Given the description of an element on the screen output the (x, y) to click on. 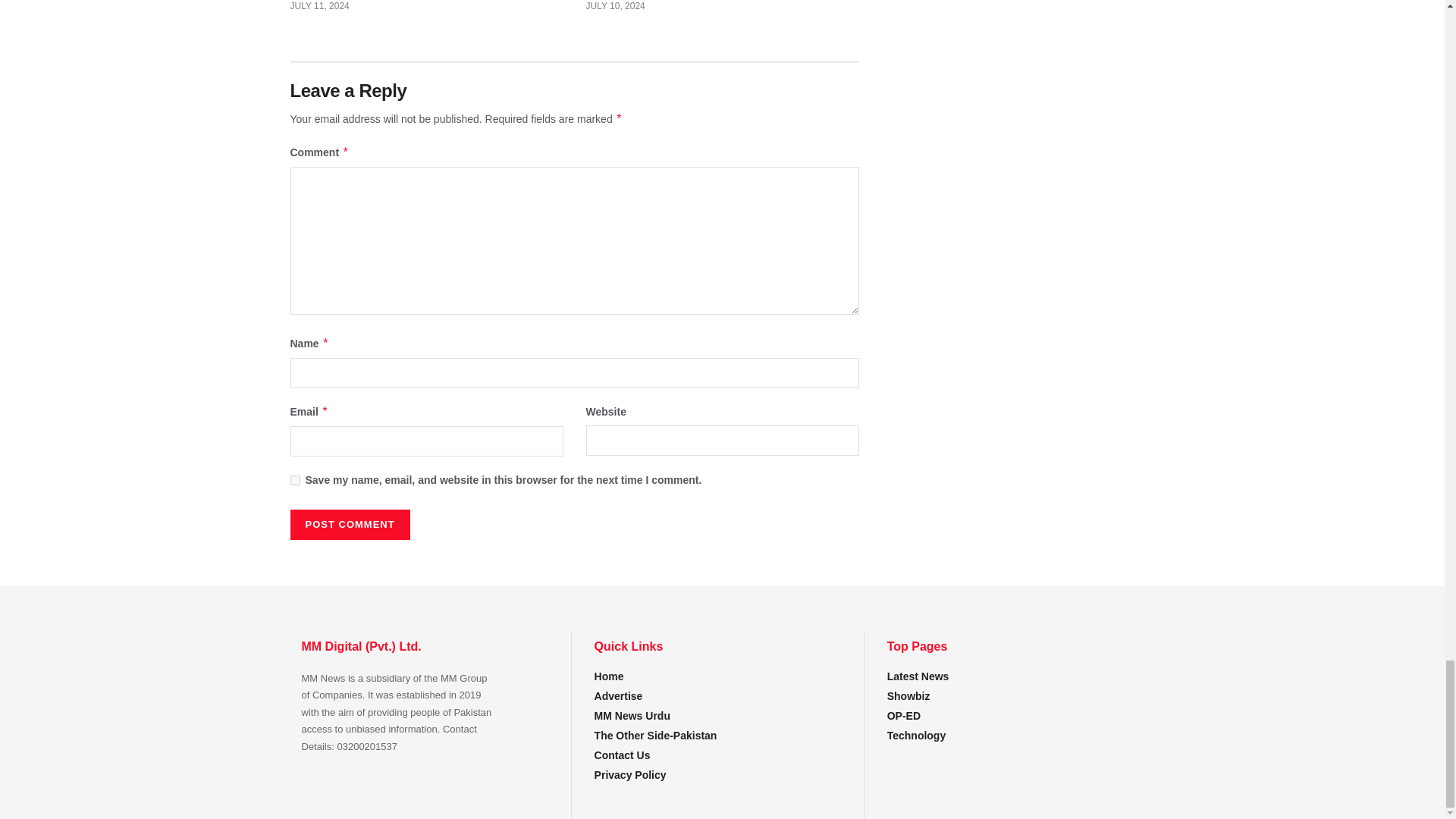
Post Comment (349, 524)
yes (294, 480)
